Given the description of an element on the screen output the (x, y) to click on. 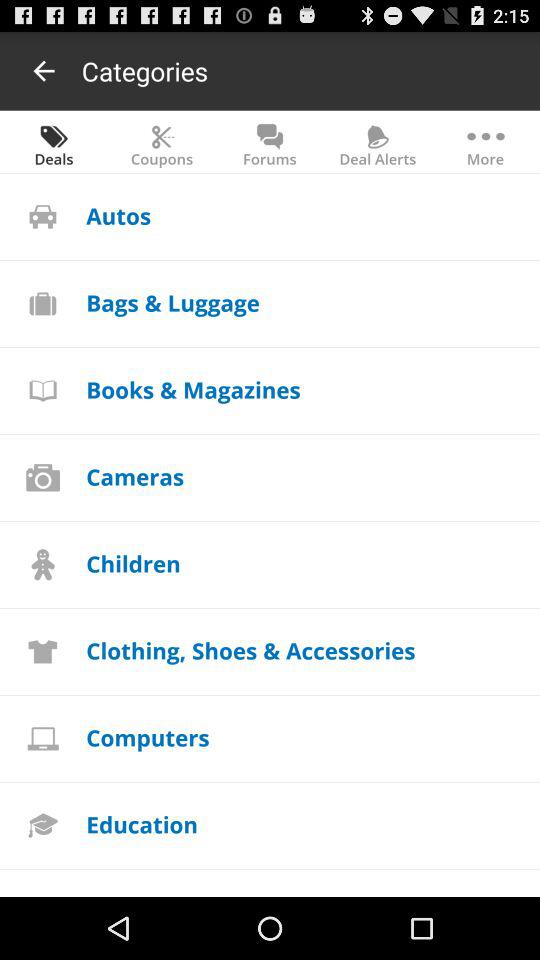
turn on the icon above clothing, shoes & accessories (133, 562)
